Given the description of an element on the screen output the (x, y) to click on. 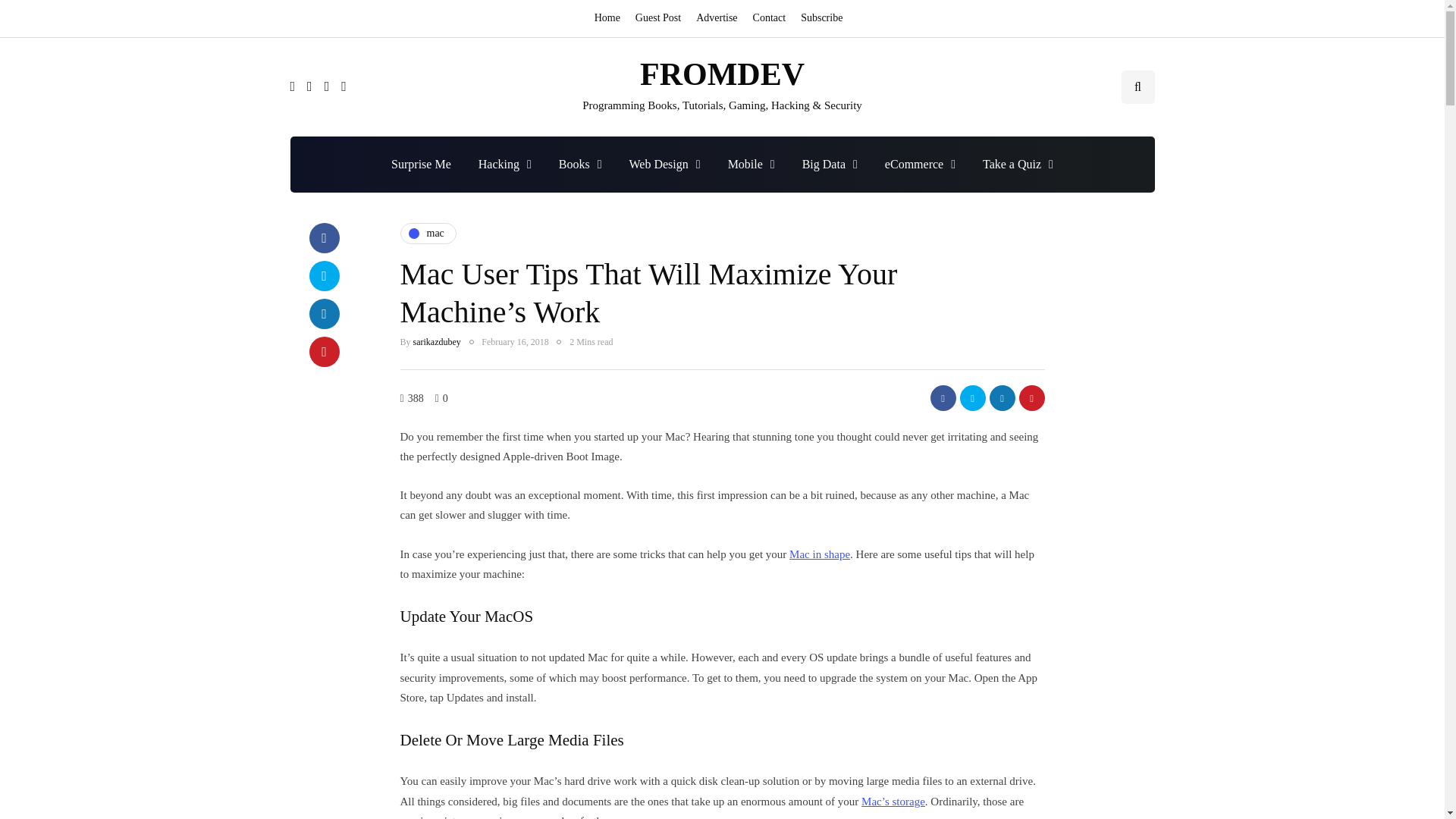
Web Design (664, 163)
Books (579, 163)
Advertise (716, 18)
FROMDEV (722, 73)
Mobile (751, 163)
Guest Post (657, 18)
Home (610, 18)
Hacking (504, 163)
Subscribe (821, 18)
Surprise Me (420, 163)
